Given the description of an element on the screen output the (x, y) to click on. 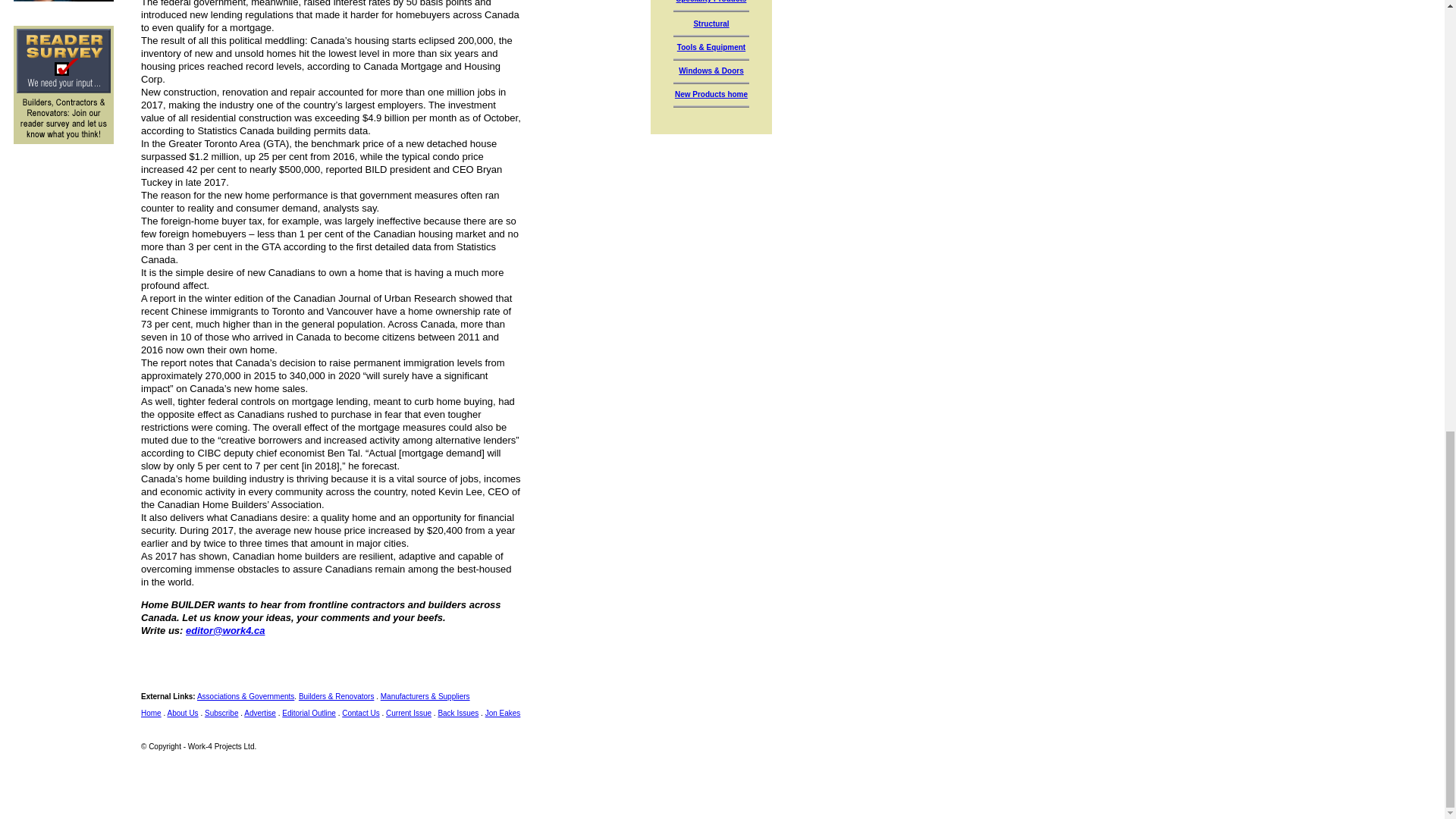
Back Issues (458, 713)
Subscribe (221, 713)
New Products home (711, 94)
Advertise (260, 713)
Speciality Products (711, 1)
Editorial Outline (309, 713)
Current Issue (407, 713)
About Us (182, 713)
Contact Us (360, 713)
Home (151, 713)
